Given the description of an element on the screen output the (x, y) to click on. 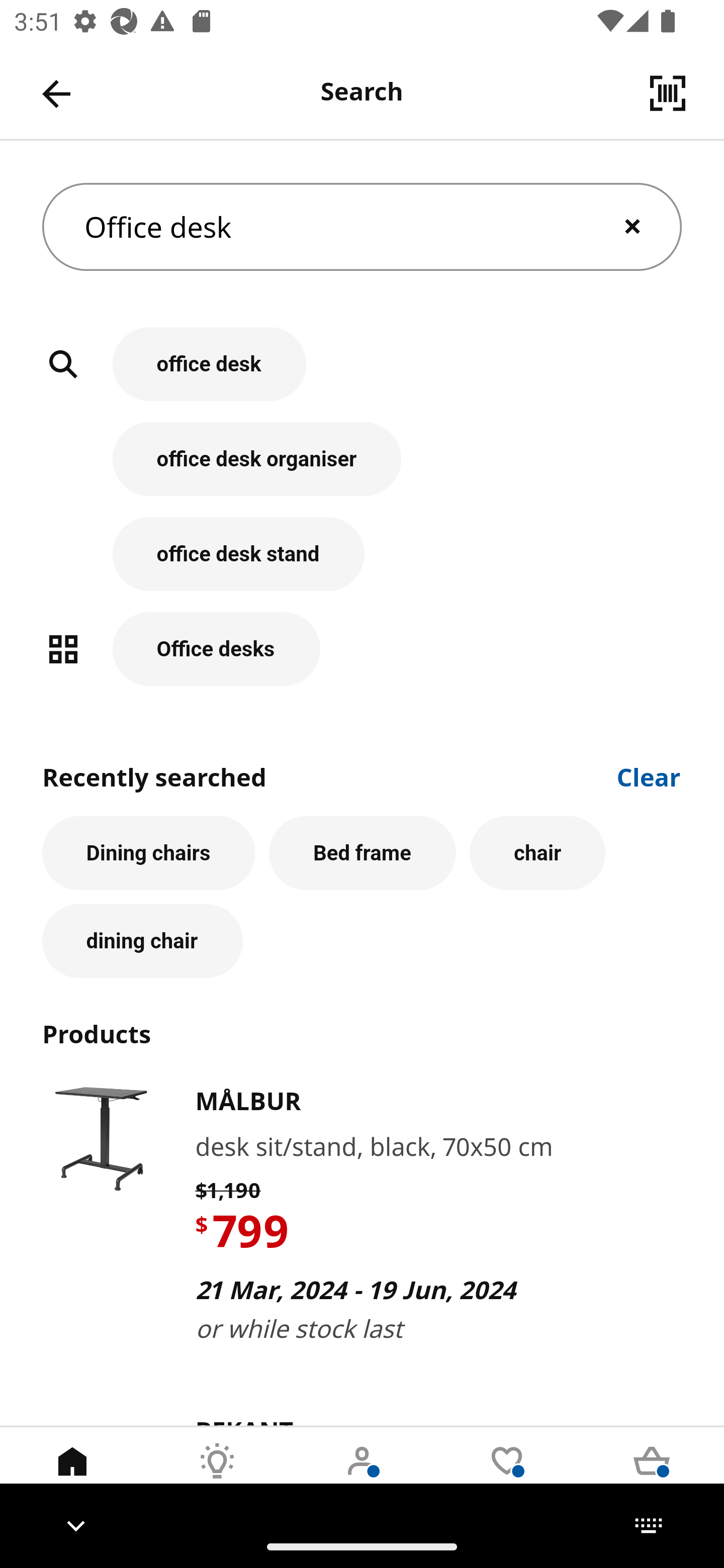
Office desk (361, 227)
office desk (361, 374)
office desk organiser (361, 469)
office desk stand (361, 564)
Office desks (361, 648)
Clear (649, 774)
Dining chairs (148, 853)
Bed frame (362, 853)
chair (537, 853)
dining chair (141, 941)
Home
Tab 1 of 5 (72, 1476)
Inspirations
Tab 2 of 5 (216, 1476)
User
Tab 3 of 5 (361, 1476)
Wishlist
Tab 4 of 5 (506, 1476)
Cart
Tab 5 of 5 (651, 1476)
